Given the description of an element on the screen output the (x, y) to click on. 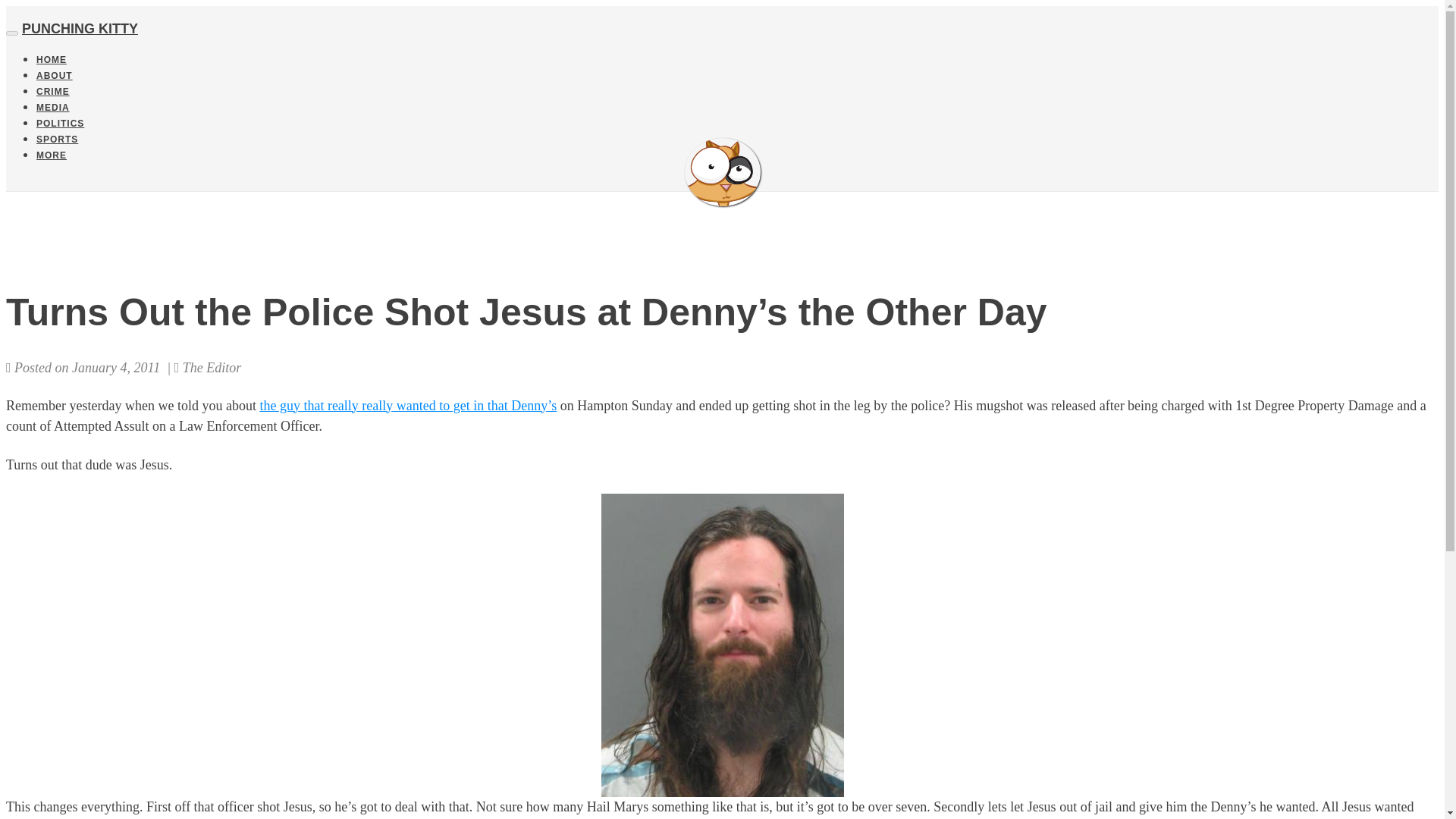
Sports (57, 139)
ABOUT (54, 75)
Politics (60, 122)
Home (51, 59)
Media (52, 107)
HOME (51, 59)
MEDIA (52, 107)
PUNCHING KITTY (722, 172)
About (54, 75)
SPORTS (57, 139)
PUNCHING KITTY (79, 28)
More (51, 154)
Toggle navigation (11, 33)
MORE (51, 154)
CRIME (52, 91)
